Given the description of an element on the screen output the (x, y) to click on. 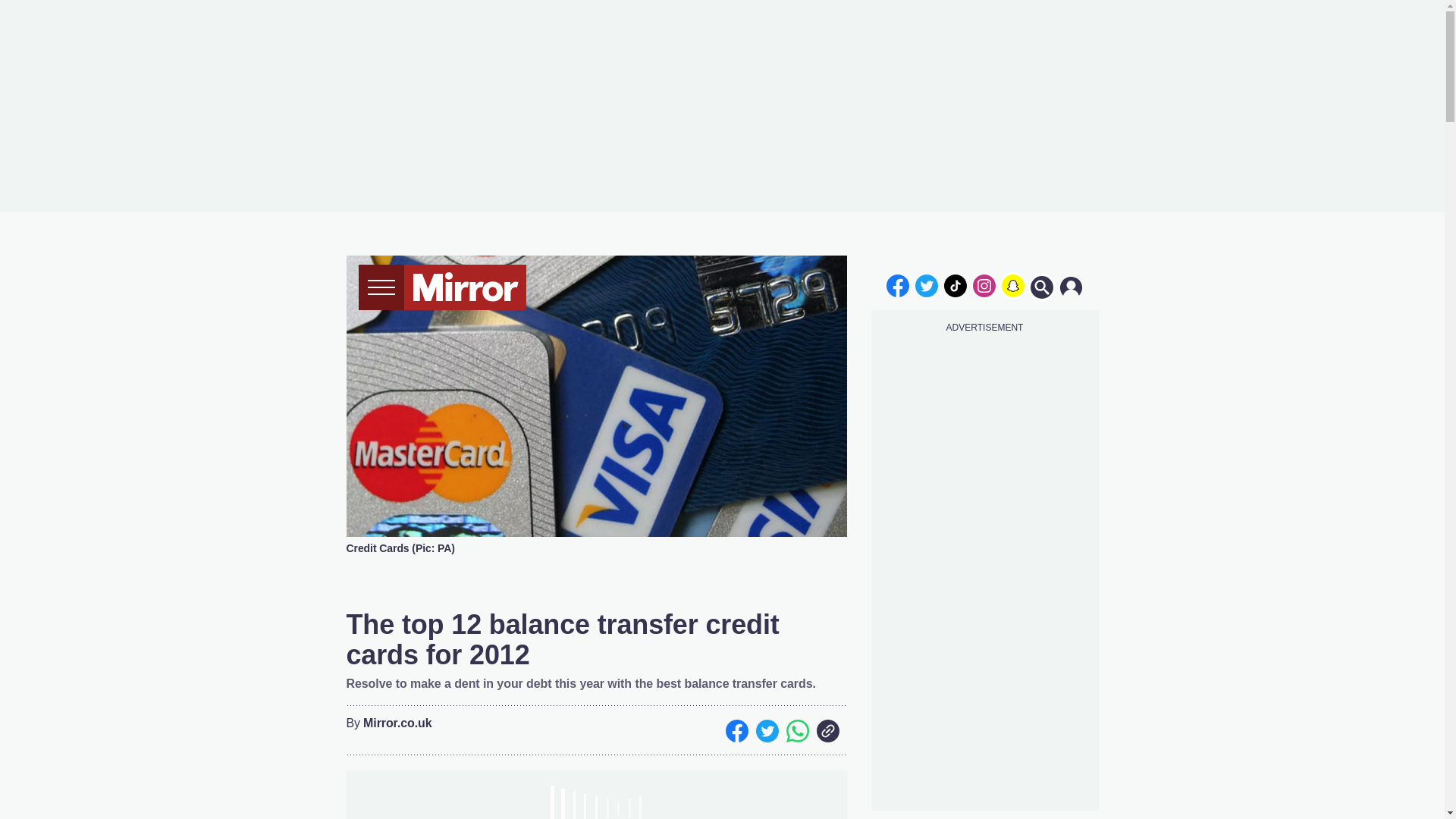
snapchat (1012, 285)
Facebook (736, 730)
instagram (984, 285)
twitter (926, 285)
Twitter (766, 730)
facebook (897, 285)
Whatsapp (797, 730)
tiktok (955, 285)
